Given the description of an element on the screen output the (x, y) to click on. 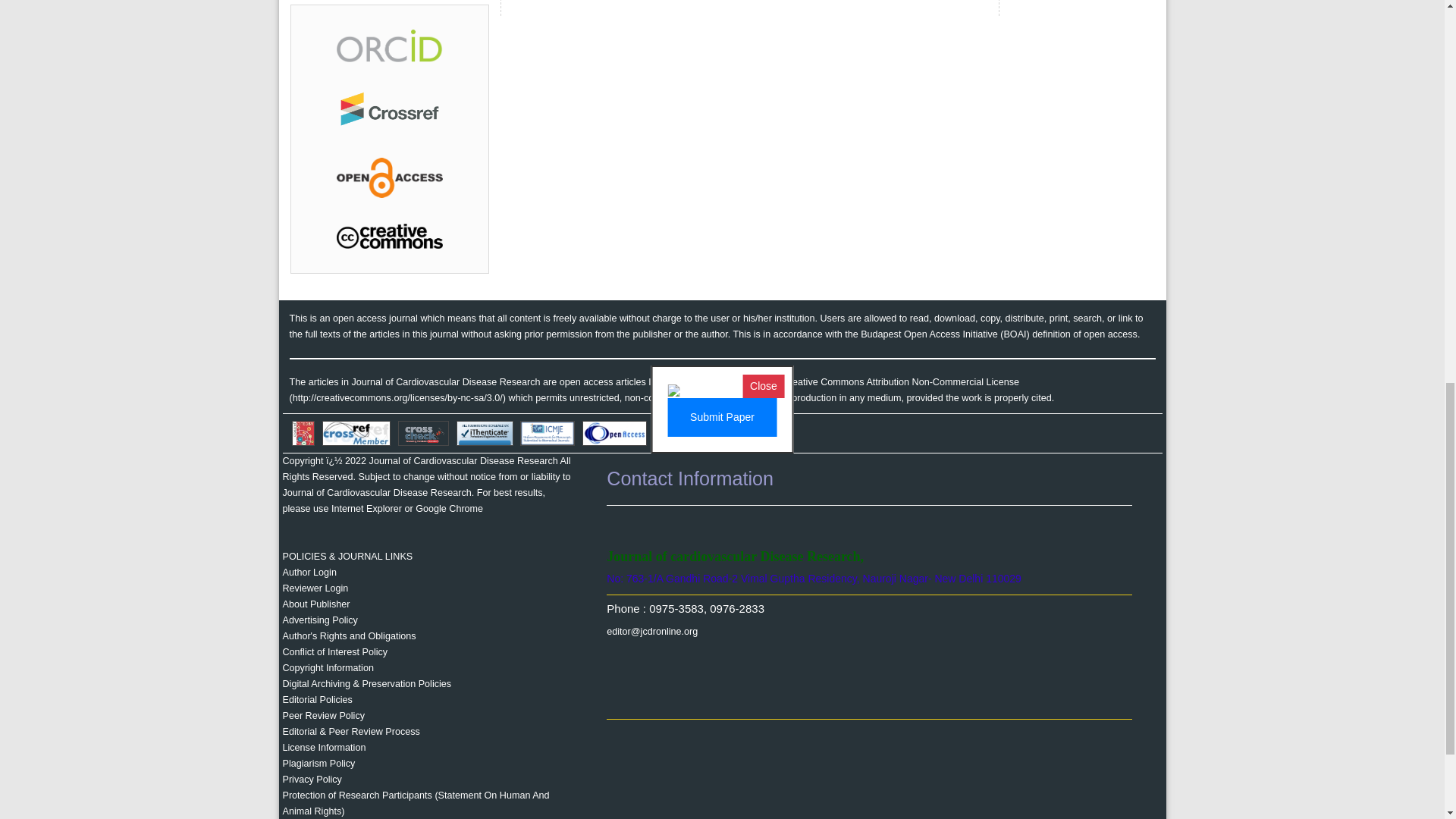
About Publisher (315, 603)
License Information (323, 747)
Peer Review Policy (323, 715)
Editorial Policies (317, 699)
Reviewer Login (314, 588)
Author Login (309, 572)
Plagiarism Policy (318, 763)
Advertising Policy (319, 620)
Conflict of Interest Policy (334, 652)
Author's Rights and Obligations (348, 635)
Copyright Information (327, 667)
